Given the description of an element on the screen output the (x, y) to click on. 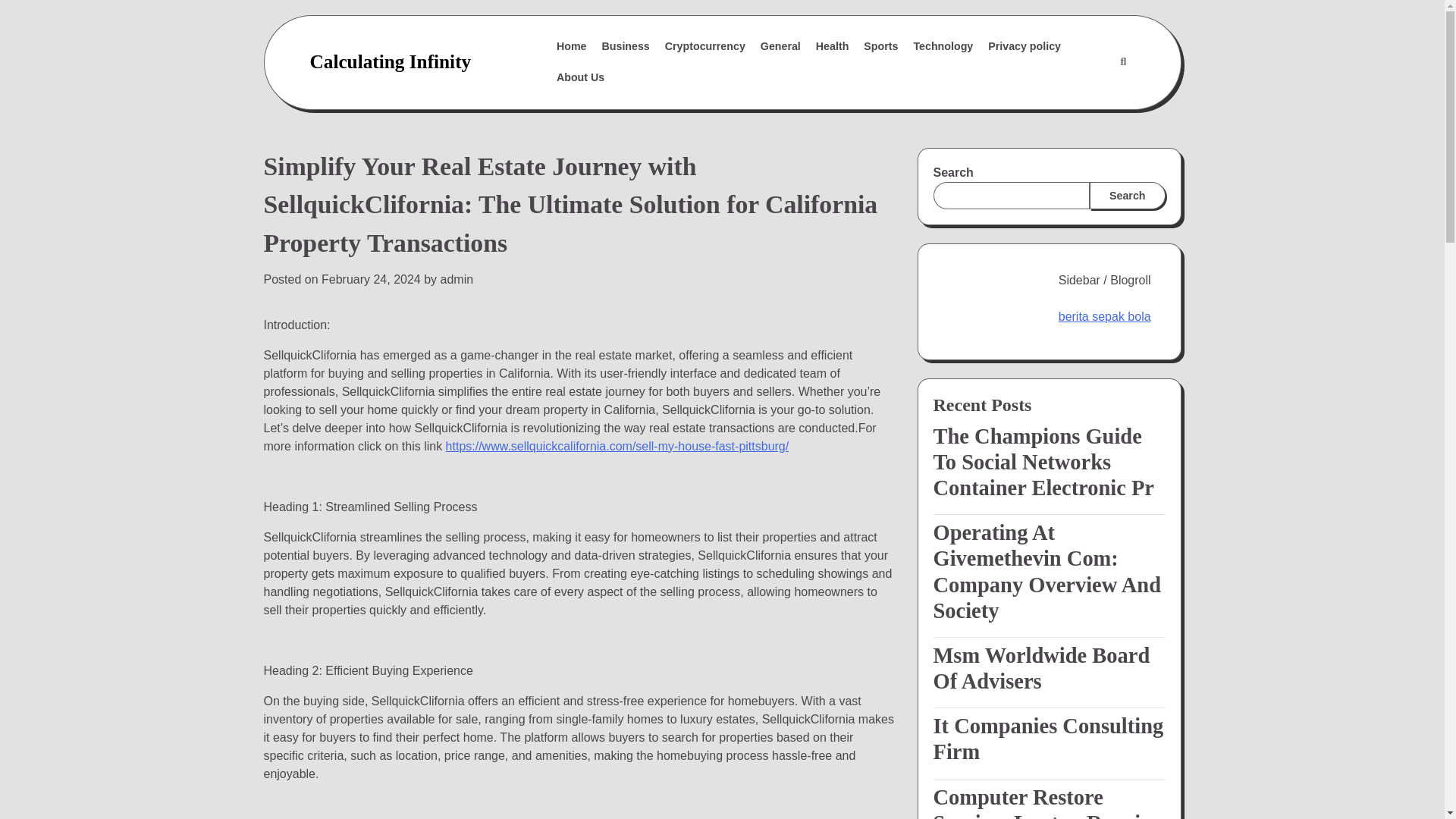
Business (626, 46)
Calculating Infinity (389, 61)
Operating At Givemethevin Com: Company Overview And Society (1048, 572)
berita sepak bola (1104, 316)
Home (571, 46)
Health (832, 46)
About Us (579, 77)
Technology (942, 46)
Search (1126, 195)
It Companies Consulting Firm (1048, 738)
Search (1123, 61)
Cryptocurrency (705, 46)
admin (457, 278)
Msm Worldwide Board Of Advisers (1048, 668)
